Given the description of an element on the screen output the (x, y) to click on. 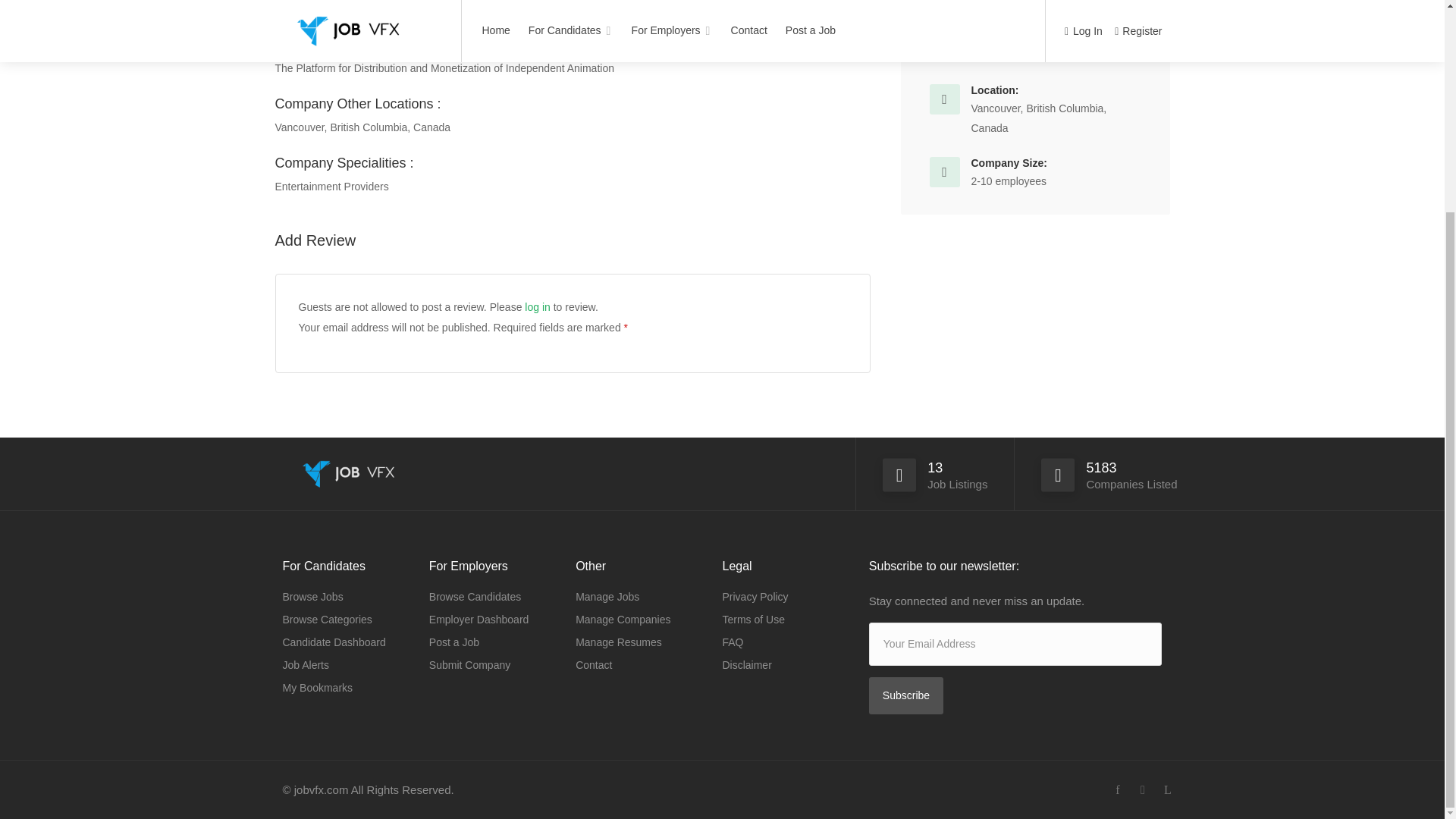
facebook (1117, 789)
linkedin (1167, 789)
instagram (1141, 789)
Subscribe (906, 695)
